Given the description of an element on the screen output the (x, y) to click on. 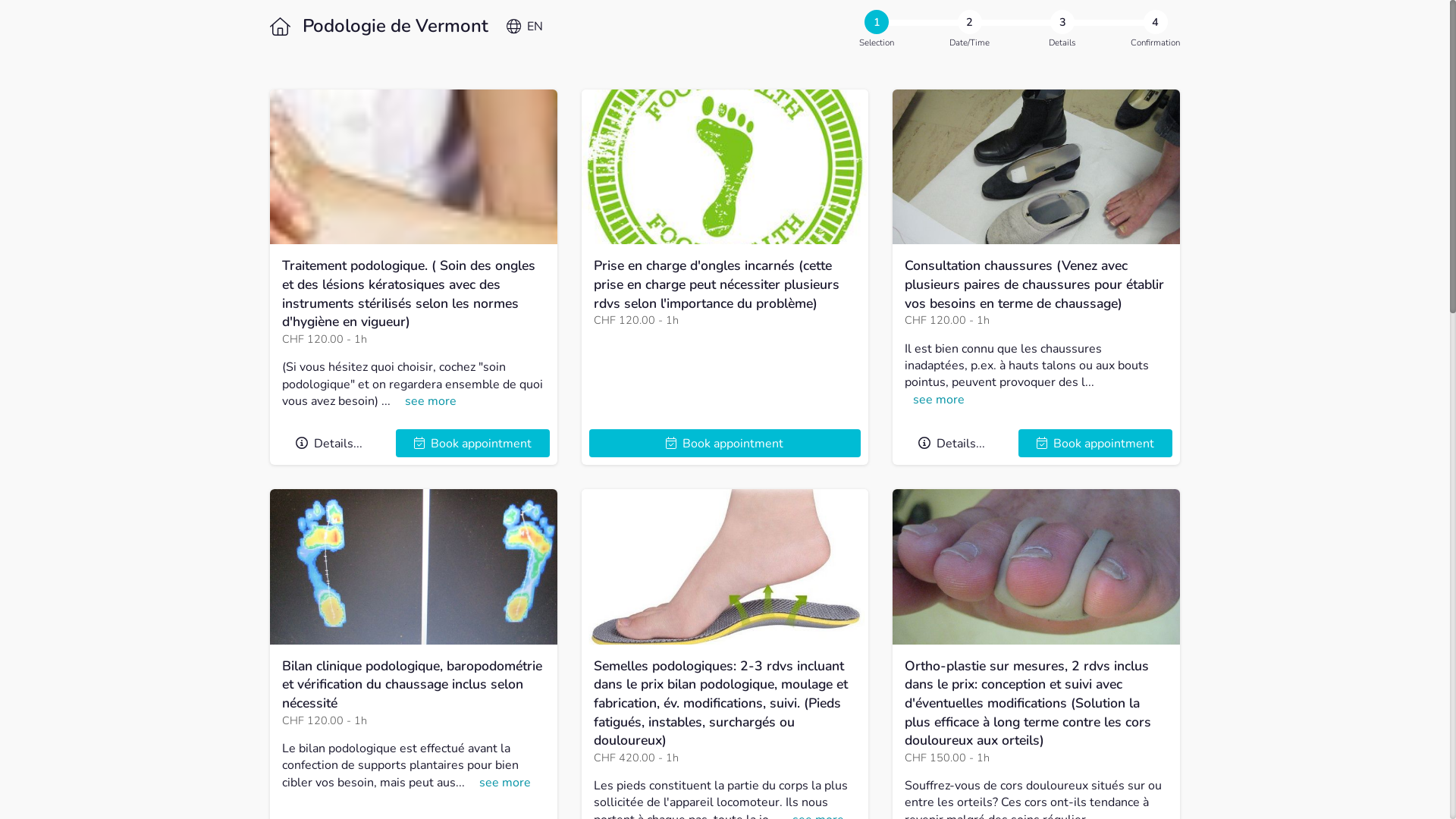
see more Element type: text (938, 399)
see more Element type: text (504, 782)
Details... Element type: text (328, 443)
Details... Element type: text (951, 443)
Book appointment Element type: text (472, 443)
Book appointment Element type: text (1095, 443)
see more Element type: text (430, 401)
Book appointment Element type: text (725, 443)
